Given the description of an element on the screen output the (x, y) to click on. 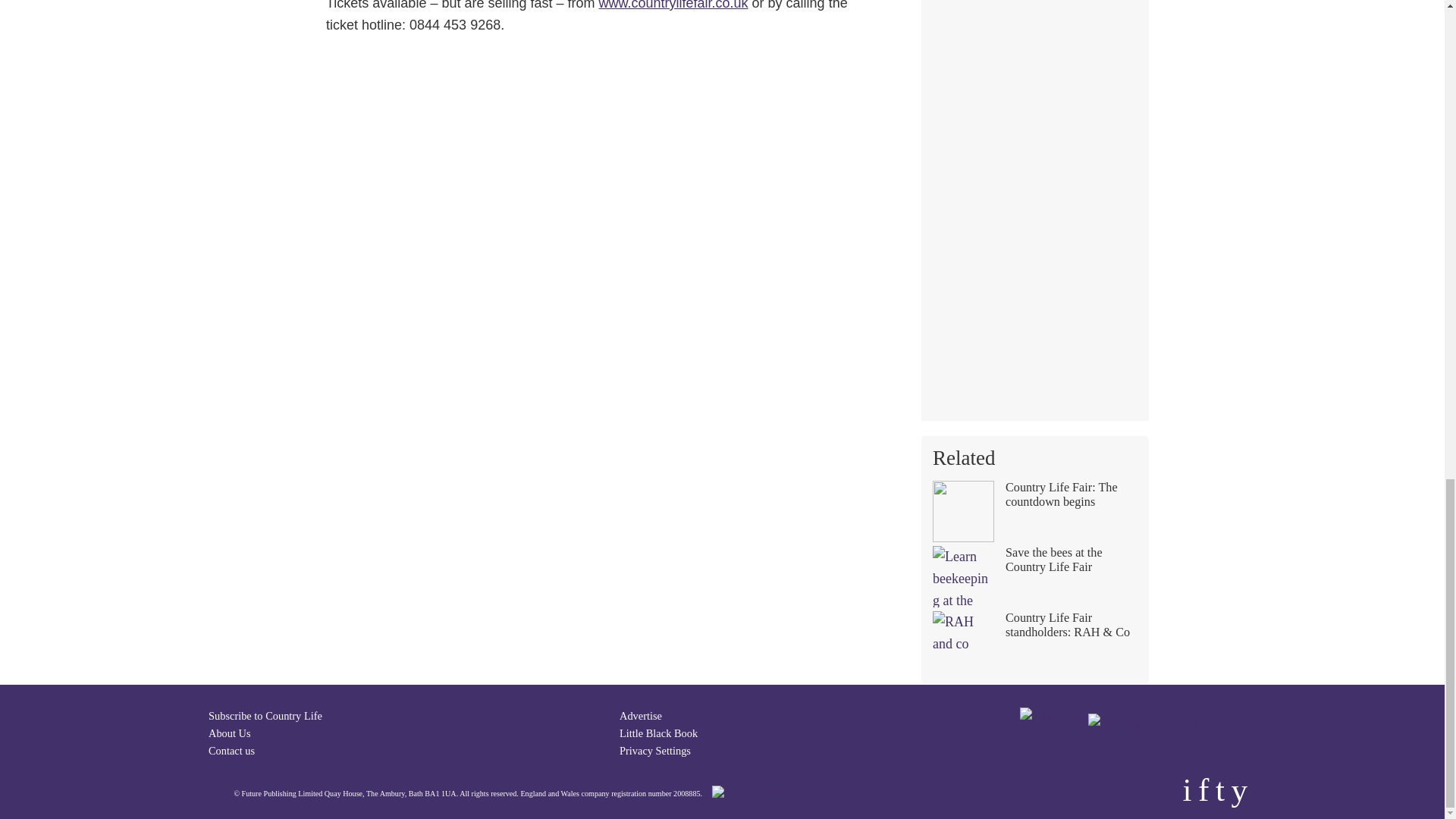
the country life fair (673, 5)
Save the bees at the Country Life Fair (1035, 576)
Country Life Fair: The countdown begins (1035, 511)
